Given the description of an element on the screen output the (x, y) to click on. 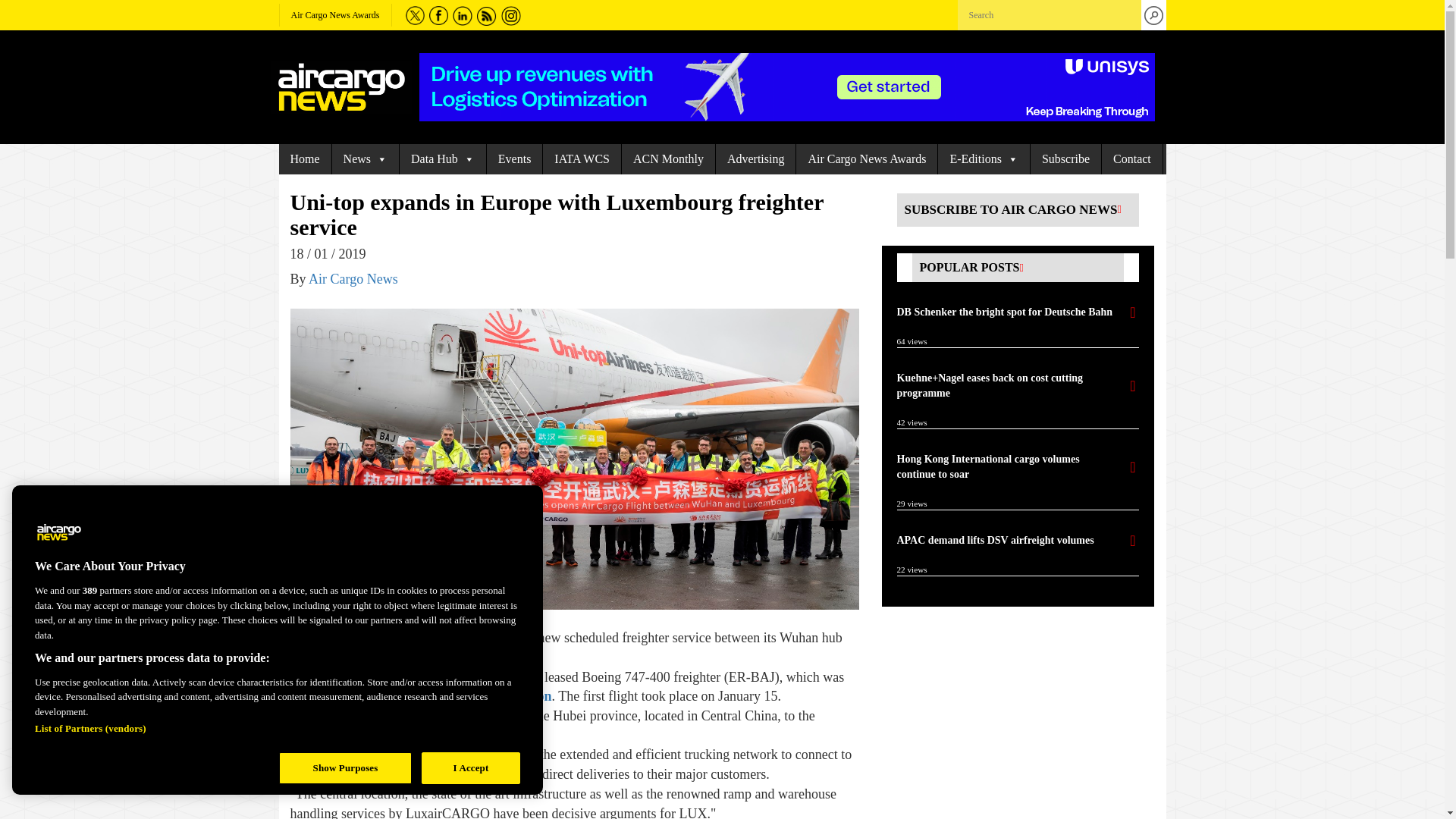
3rd party ad content (786, 87)
Opens external link in new window (483, 695)
News (364, 159)
Home (305, 159)
Air Cargo News Awards (335, 14)
